Given the description of an element on the screen output the (x, y) to click on. 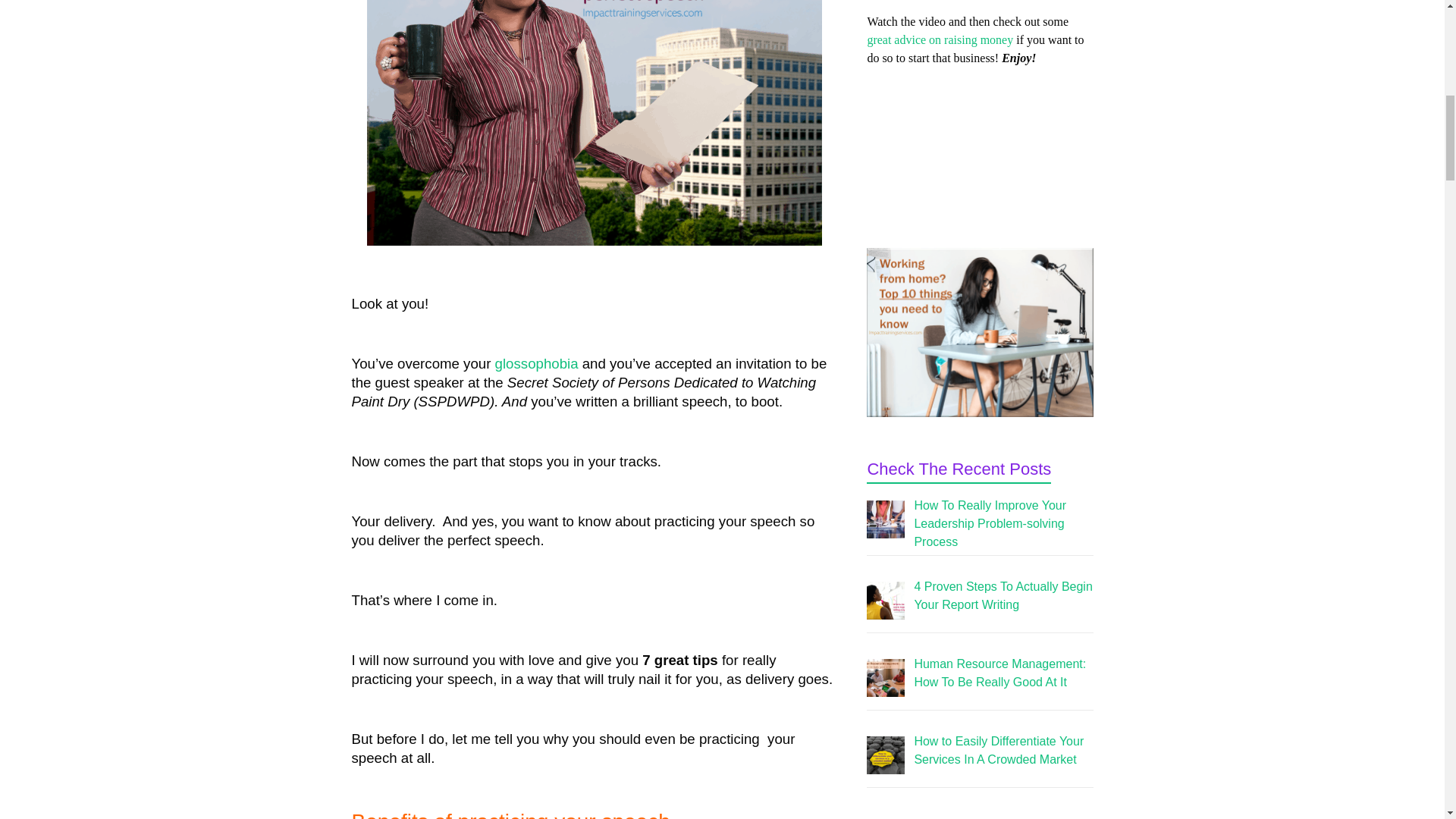
glossophobia (536, 363)
Is working from home for you?  (979, 332)
